Given the description of an element on the screen output the (x, y) to click on. 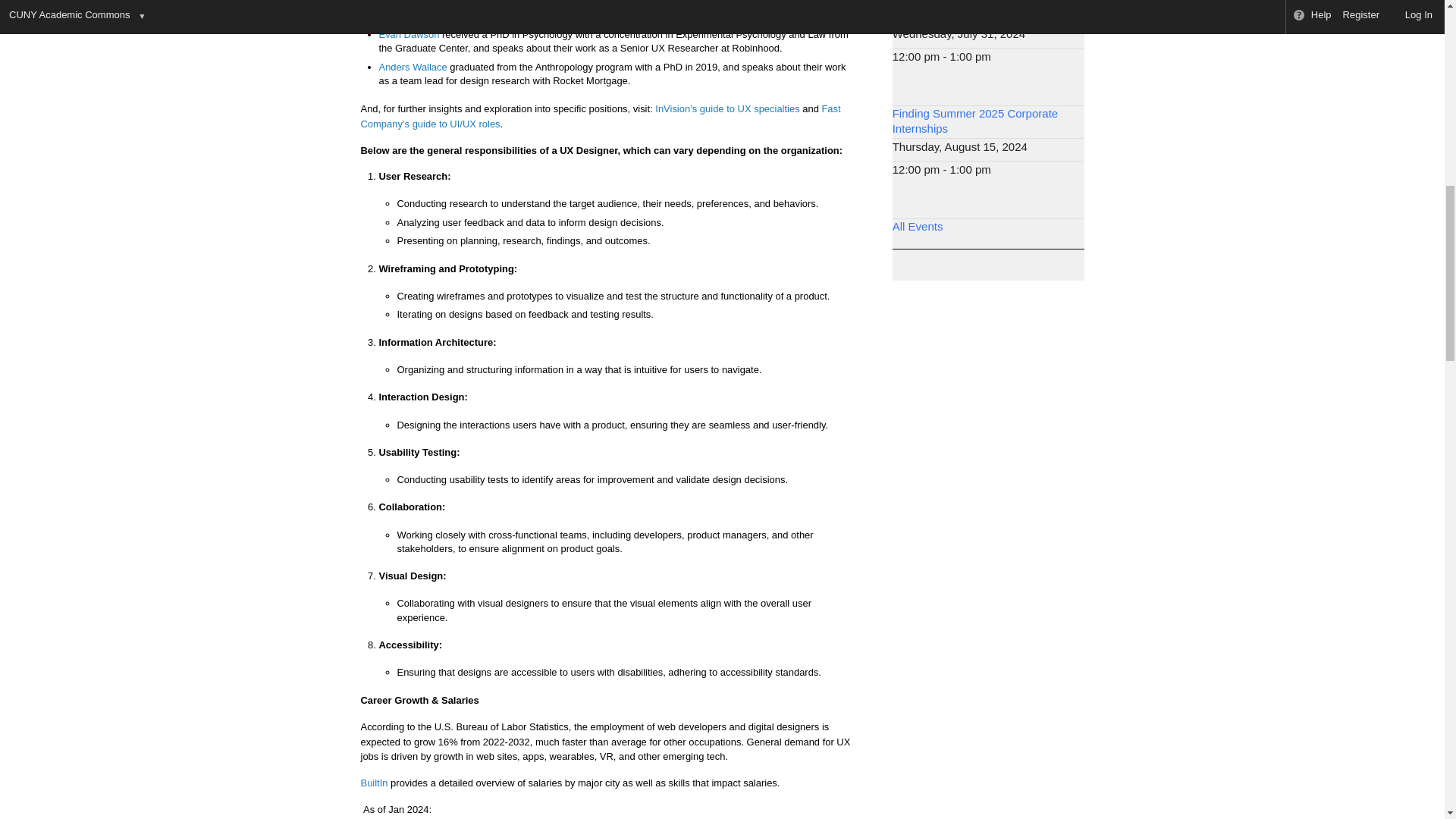
All Events (917, 226)
